Given the description of an element on the screen output the (x, y) to click on. 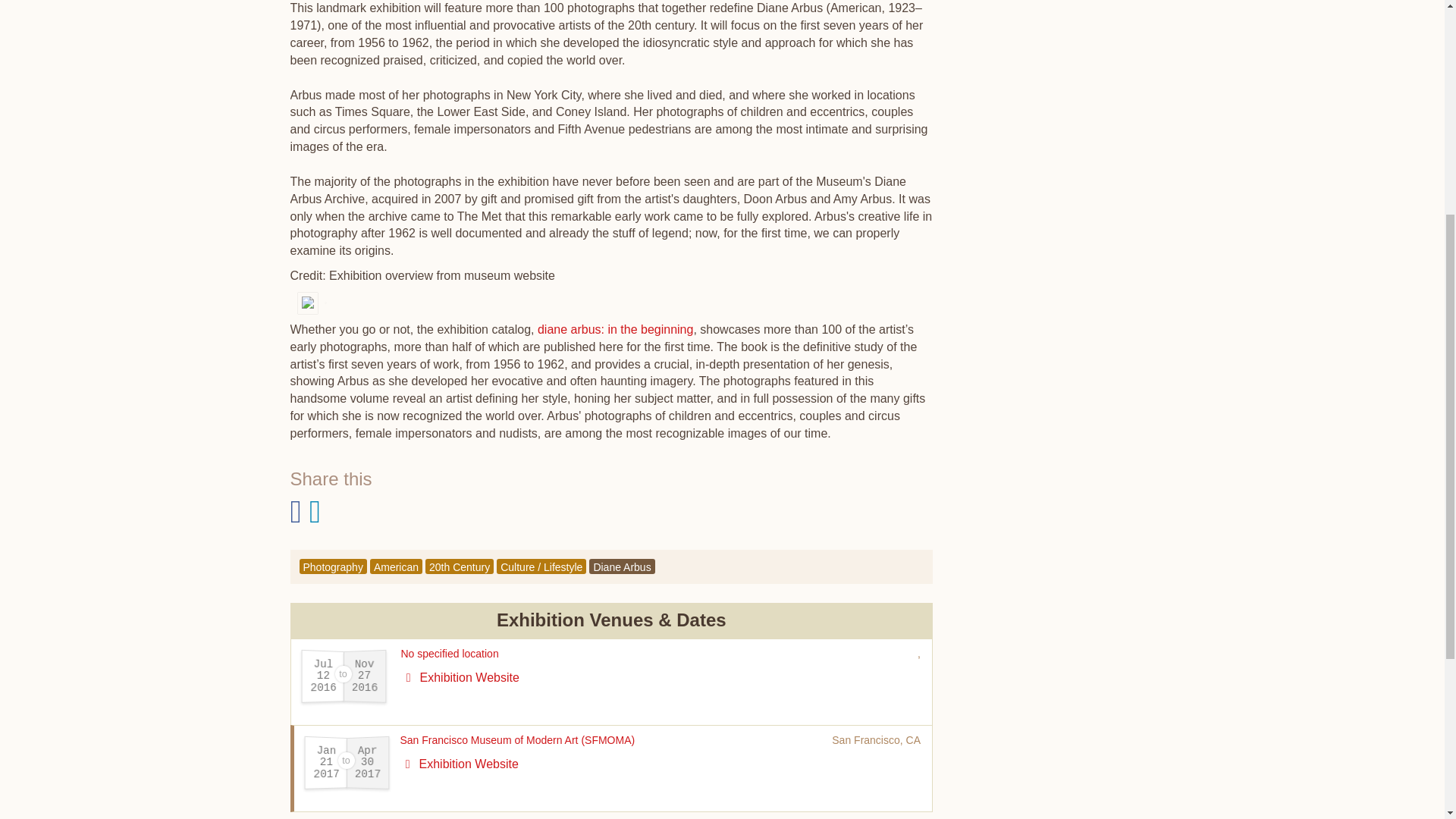
Exhibition Website (459, 676)
Exhibition Website (459, 763)
diane arbus: in the beginning (615, 328)
No specified location (448, 653)
